Given the description of an element on the screen output the (x, y) to click on. 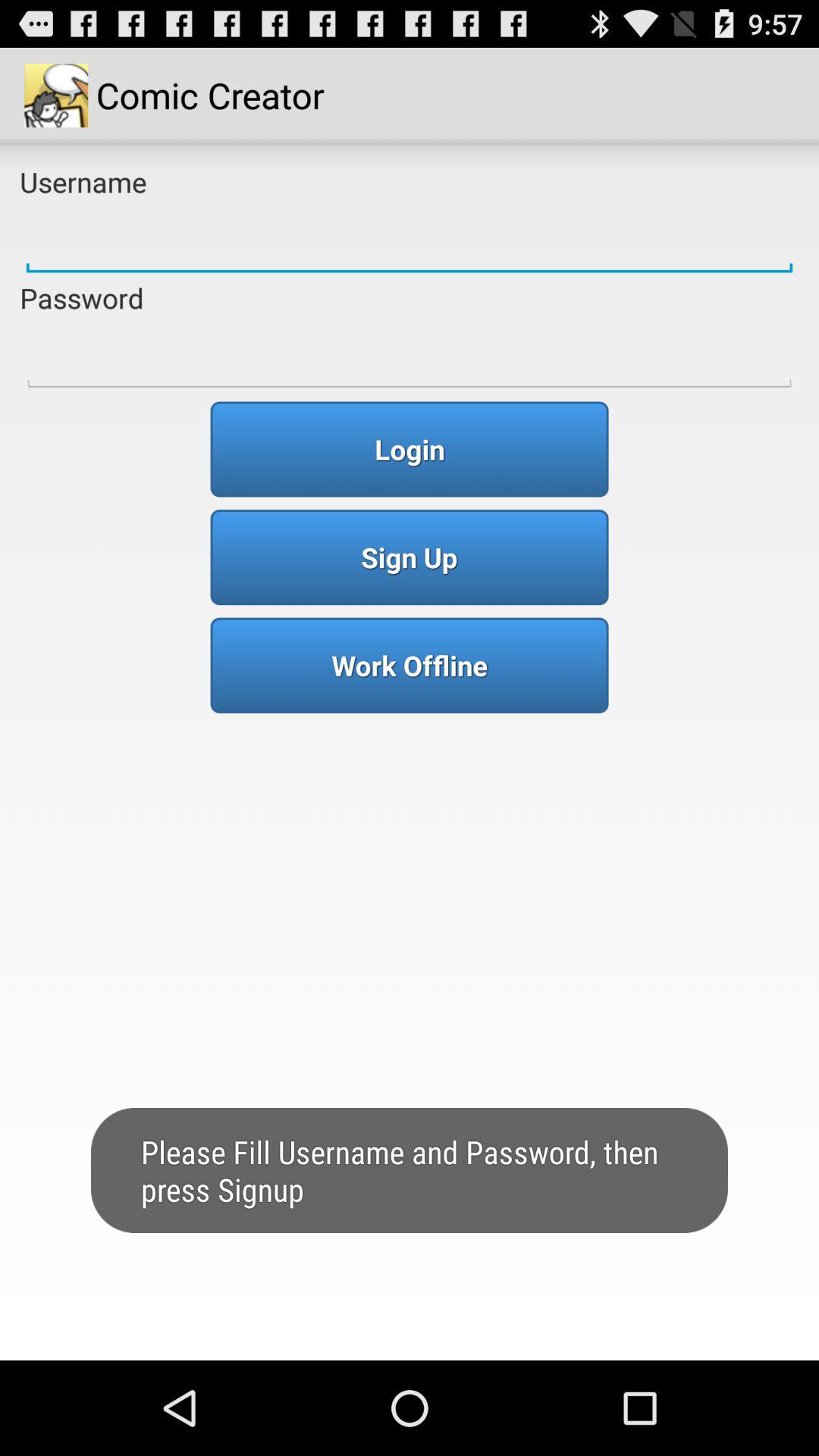
enter your password here (409, 355)
